Given the description of an element on the screen output the (x, y) to click on. 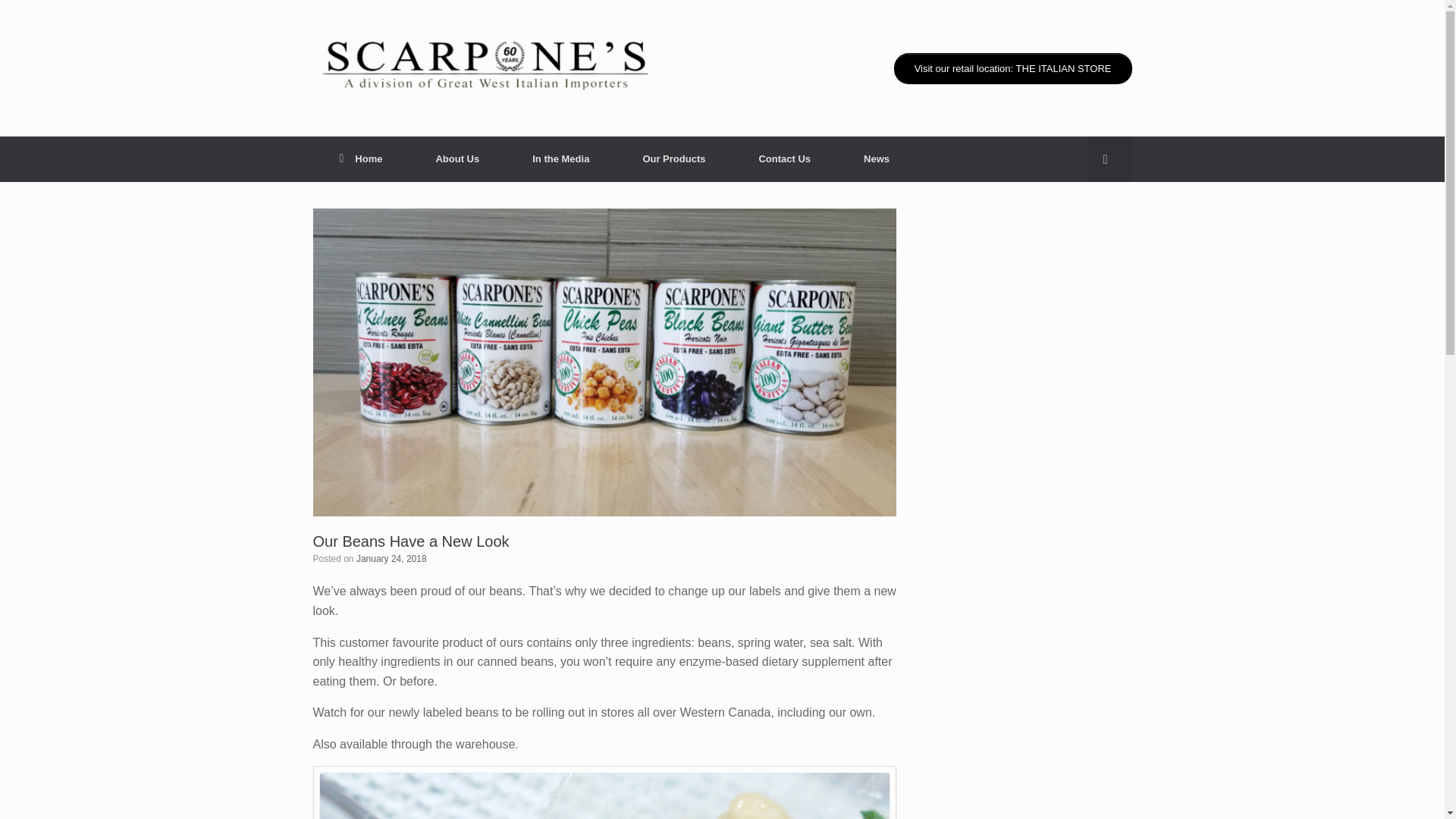
About Us (457, 158)
9:18 pm (391, 558)
Our Beans Have a New Look (410, 541)
Home (361, 158)
Contact Us (784, 158)
Our Products (673, 158)
News (876, 158)
Permalink to Our Beans Have a New Look (410, 541)
January 24, 2018 (391, 558)
In the Media (560, 158)
Scarpone's (483, 68)
Visit our retail location: THE ITALIAN STORE (1012, 68)
